Given the description of an element on the screen output the (x, y) to click on. 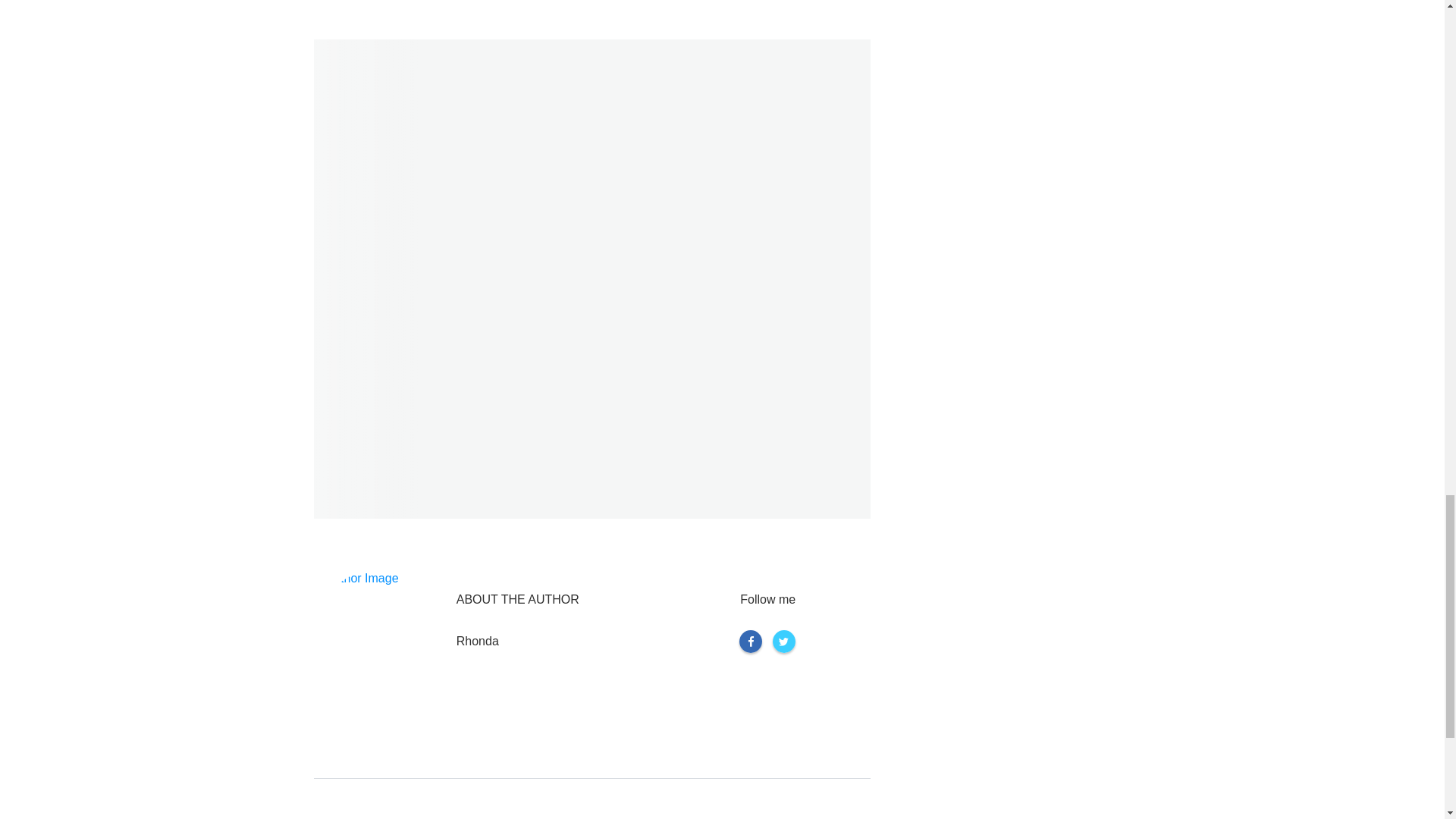
undefined (379, 634)
Rhonda (478, 640)
